Given the description of an element on the screen output the (x, y) to click on. 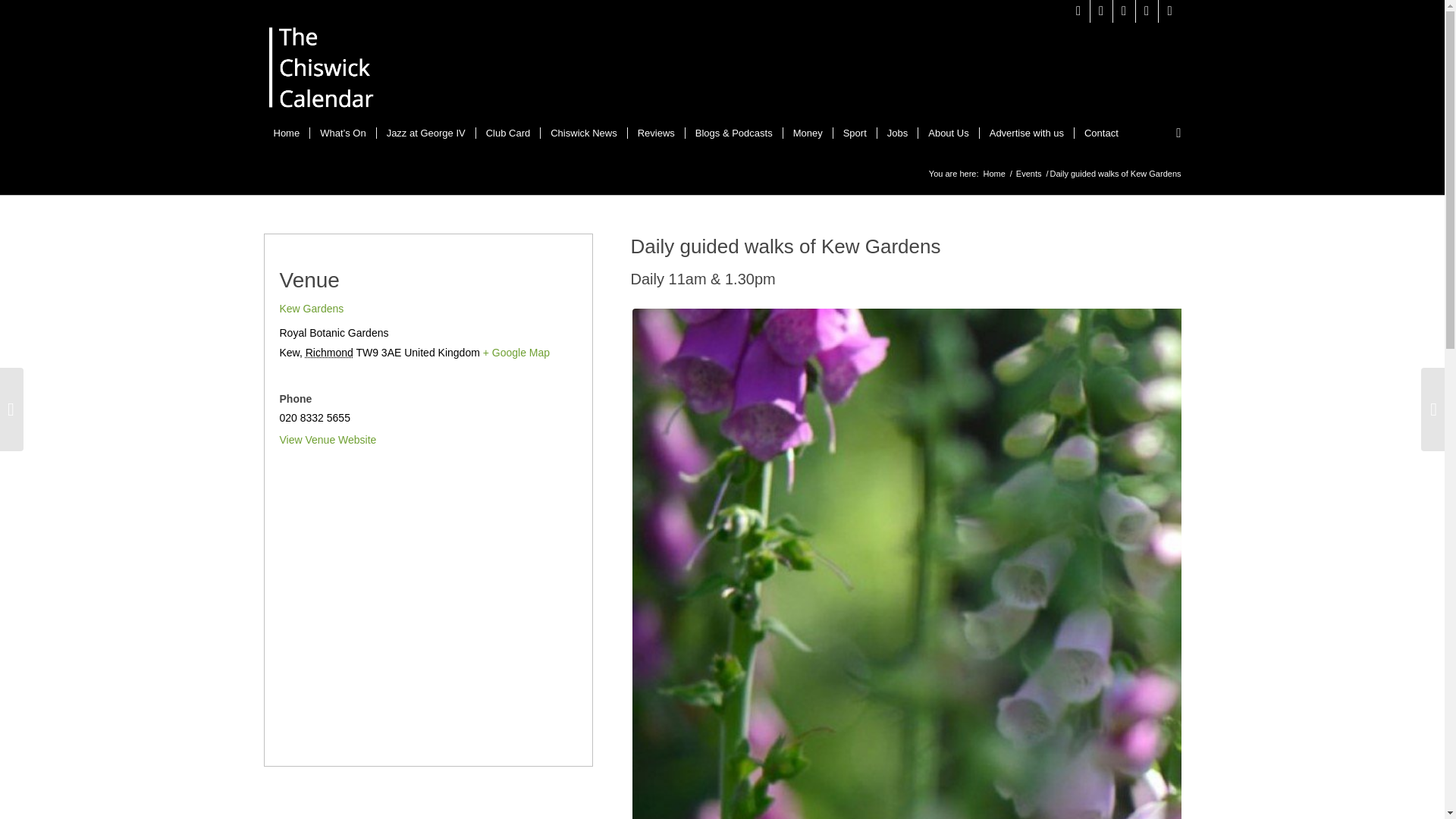
X (1078, 11)
Events (1028, 173)
Facebook (1124, 11)
Club Card (508, 133)
TCC-white-on-white (321, 70)
Youtube (1146, 11)
The Chiswick Calendar (993, 173)
Instagram (1101, 11)
Jazz at George IV (425, 133)
Home (286, 133)
